Given the description of an element on the screen output the (x, y) to click on. 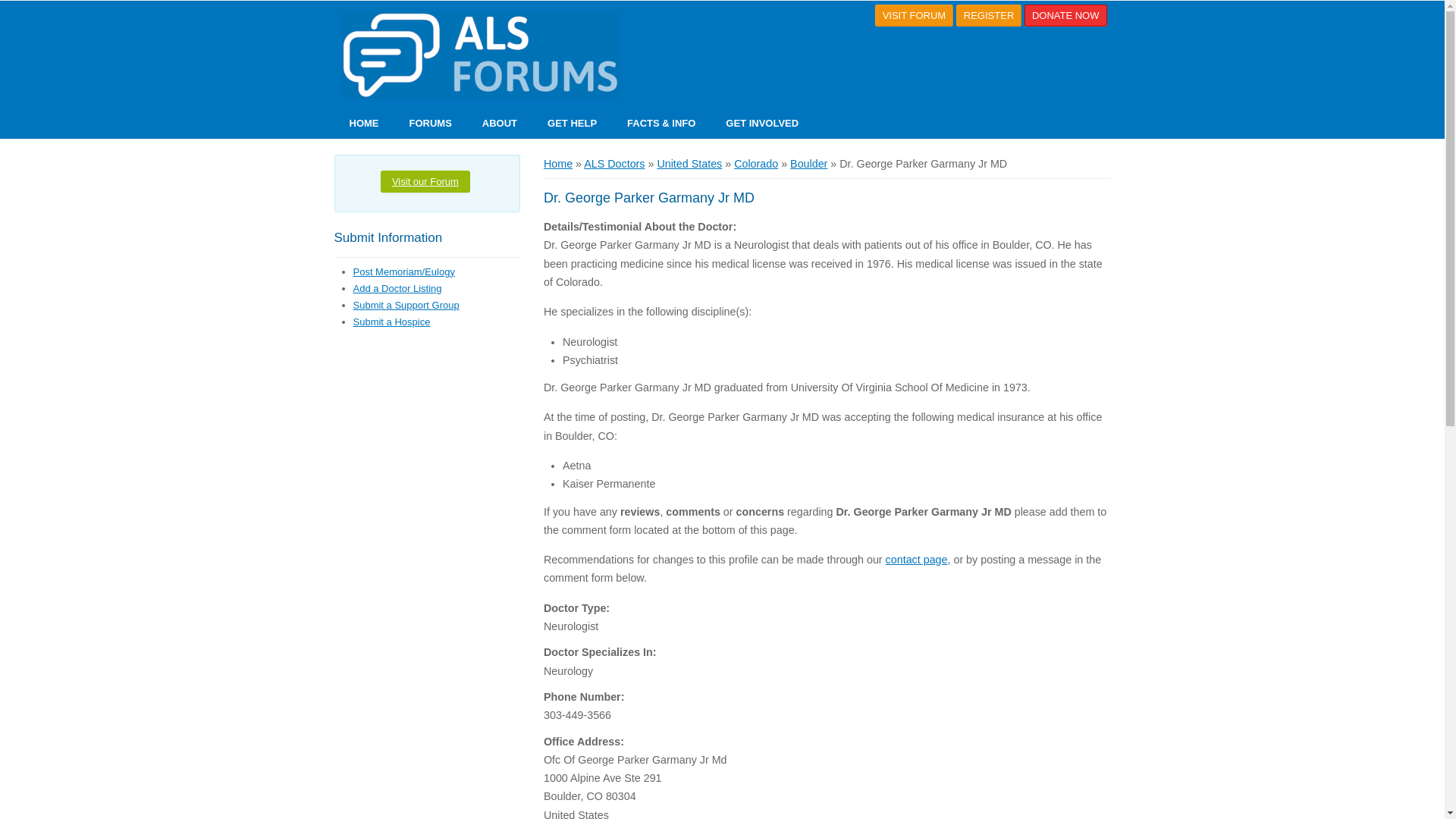
ALS doctors in Boulder, Colorado (808, 163)
GET HELP (571, 122)
DONATE NOW (1065, 15)
ALS Doctors (614, 163)
Add a Doctor Listing (397, 288)
VISIT FORUM (914, 15)
Submit a Support Group (406, 305)
contact page (916, 559)
Get help with ALS and MND (571, 122)
United States (689, 163)
